Given the description of an element on the screen output the (x, y) to click on. 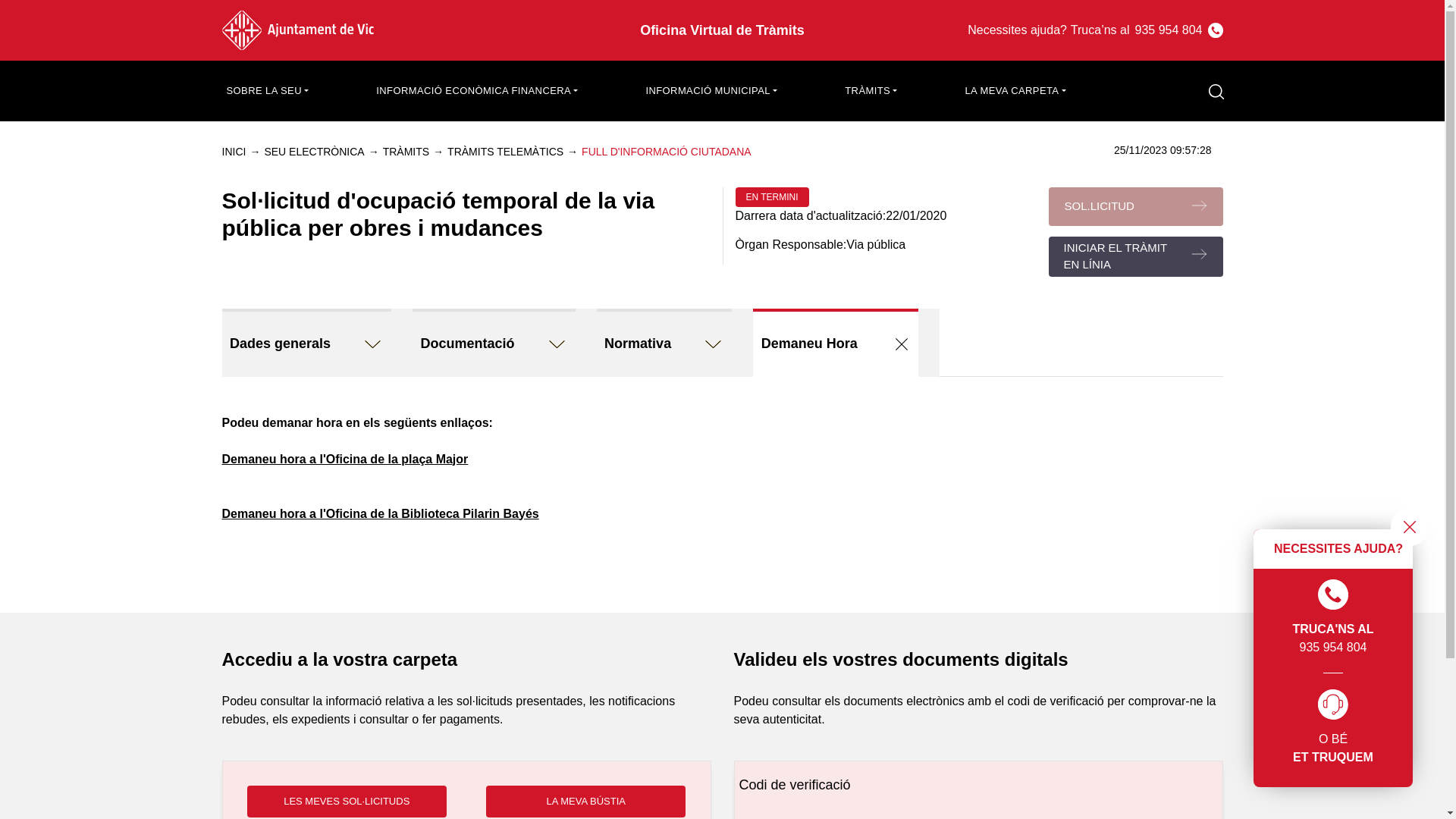
Demaneu Hora Element type: text (835, 341)
Dades generals Element type: text (306, 341)
SOL.LICITUD Element type: text (1135, 206)
INICI Element type: text (233, 151)
935 954 804 Element type: text (1168, 30)
Normativa Element type: text (664, 341)
TRUCA'NS AL
935 954 804 Element type: text (1332, 617)
